Given the description of an element on the screen output the (x, y) to click on. 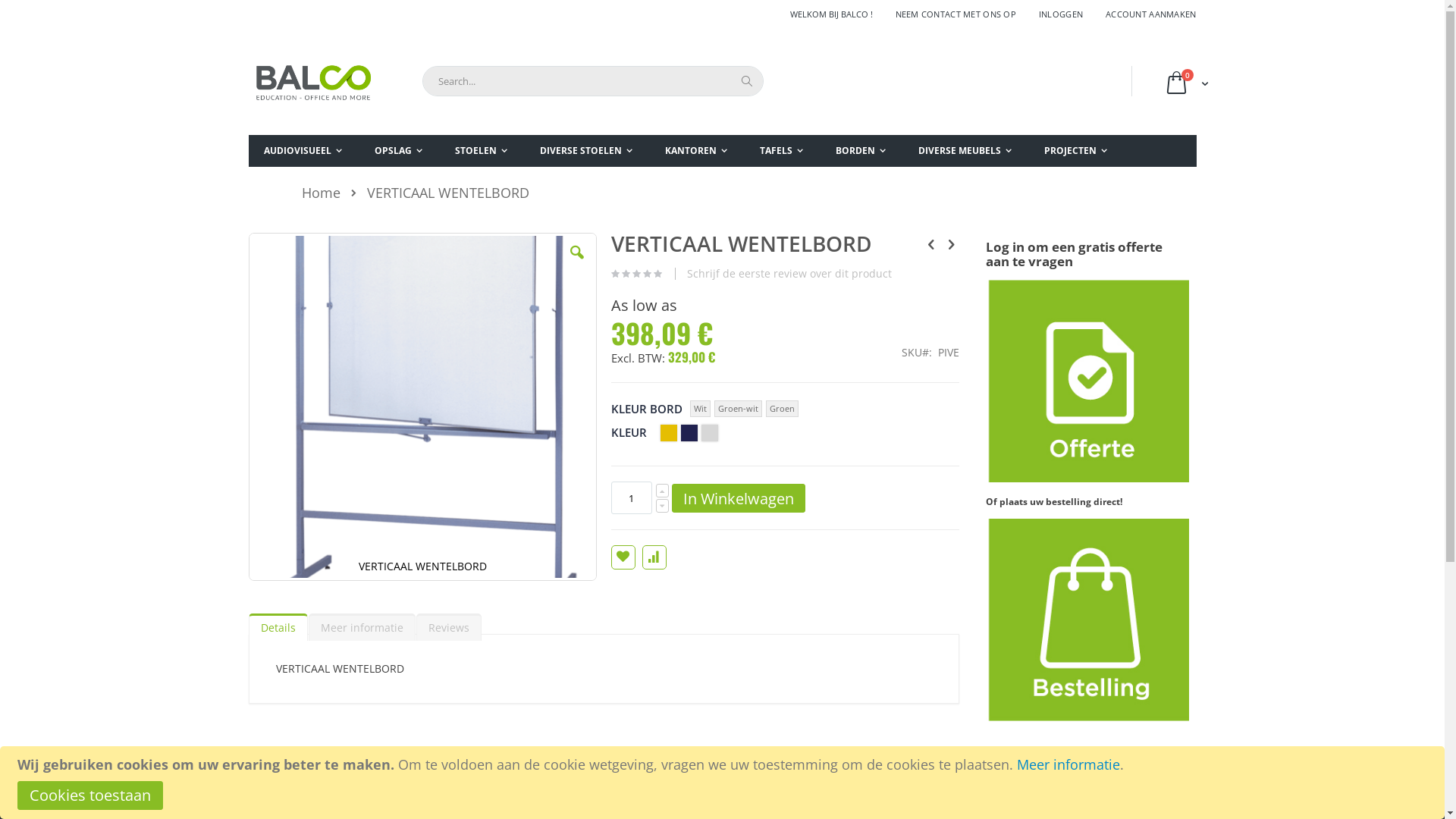
Aantal Element type: hover (631, 497)
Cart
0 Element type: text (1185, 84)
BORDEN Element type: text (860, 150)
AUDIOVISUEEL Element type: text (302, 150)
PROJECTEN Element type: text (1074, 150)
Ga naar de inhoud Element type: text (247, 7)
STOELEN Element type: text (480, 150)
TAFELS Element type: text (781, 150)
Next Product Element type: hover (950, 243)
Reviews Element type: text (447, 626)
NEEM CONTACT MET ONS OP Element type: text (955, 13)
In Winkelwagen Element type: text (738, 497)
OPSLAG Element type: text (398, 150)
Cookies toestaan Element type: text (89, 795)
ACCOUNT AANMAKEN Element type: text (1144, 13)
Details Element type: text (277, 626)
Ga naar het begin van de afbeeldingen-gallerij Element type: text (247, 581)
Meer informatie Element type: text (1067, 764)
Search Element type: text (746, 80)
DIVERSE STOELEN Element type: text (585, 150)
Meer informatie Element type: text (360, 626)
Previous Product Element type: hover (930, 243)
DIVERSE MEUBELS Element type: text (964, 150)
Home Element type: text (320, 192)
KANTOREN Element type: text (695, 150)
Ga naar het einde van de afbeeldingen-gallerij Element type: text (247, 232)
Schrijf de eerste review over dit product Element type: text (788, 273)
INLOGGEN Element type: text (1060, 13)
